Given the description of an element on the screen output the (x, y) to click on. 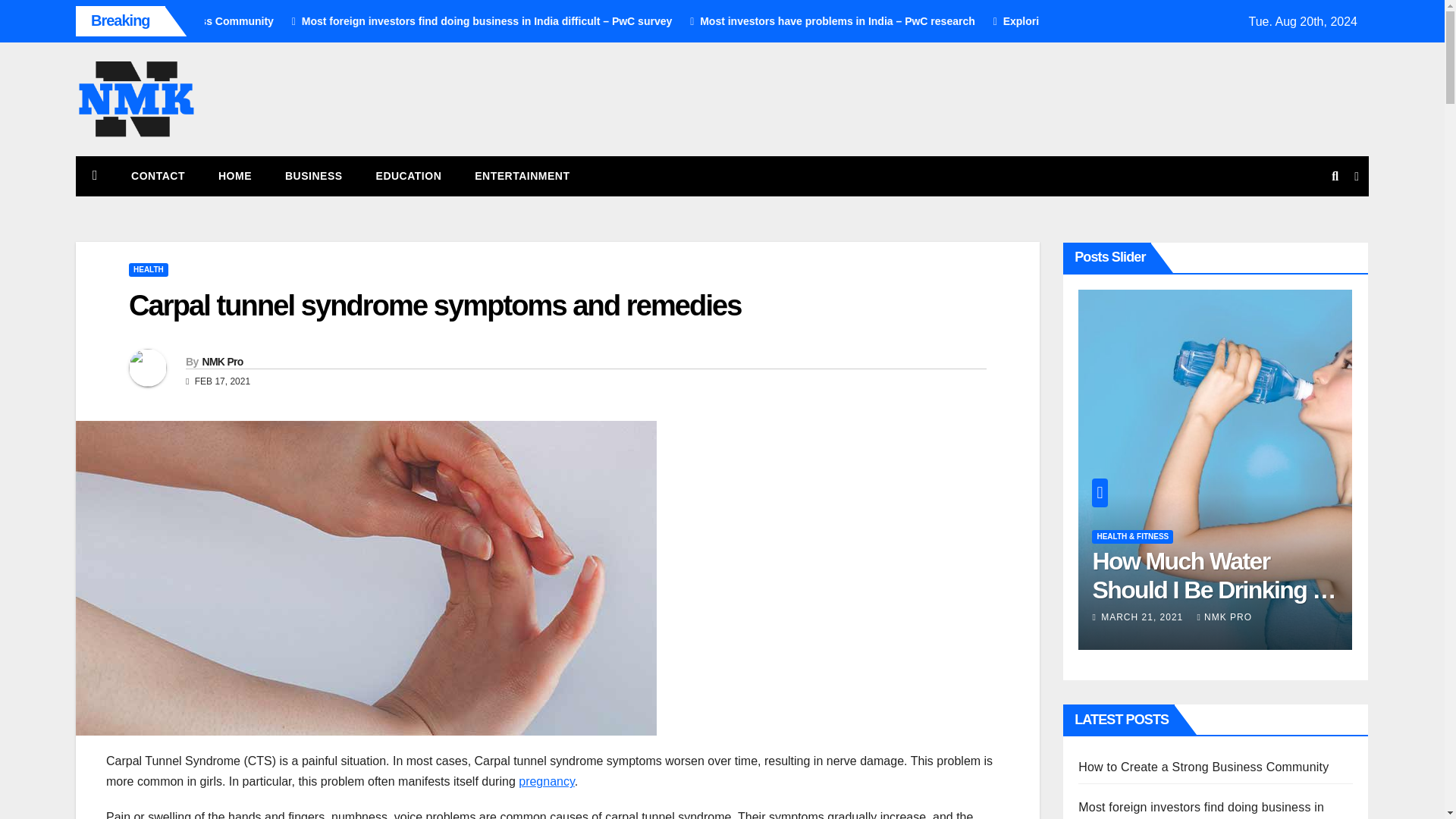
Education (408, 175)
Business (313, 175)
Carpal tunnel syndrome symptoms and remedies (435, 305)
NMK Pro (222, 361)
How to Create a Strong Business Community (328, 21)
Permalink to: Carpal tunnel syndrome symptoms and remedies (435, 305)
HOME (234, 175)
CONTACT (158, 175)
Home (234, 175)
Contact (158, 175)
